Given the description of an element on the screen output the (x, y) to click on. 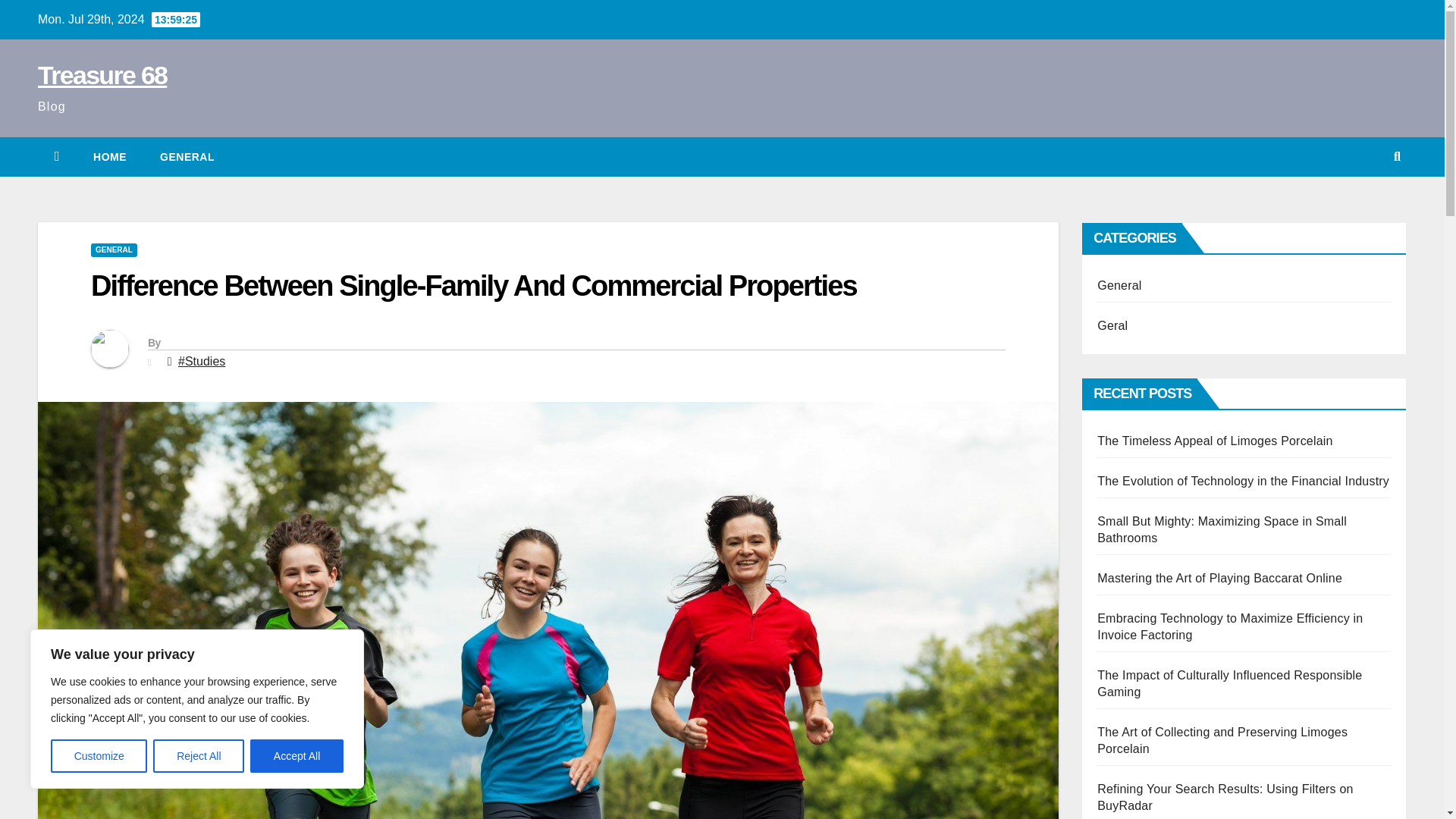
GENERAL (113, 250)
Treasure 68 (102, 74)
Reject All (198, 756)
Difference Between Single-Family And Commercial Properties (473, 286)
HOME (109, 156)
GENERAL (186, 156)
General (186, 156)
Customize (98, 756)
Accept All (296, 756)
Home (109, 156)
